Given the description of an element on the screen output the (x, y) to click on. 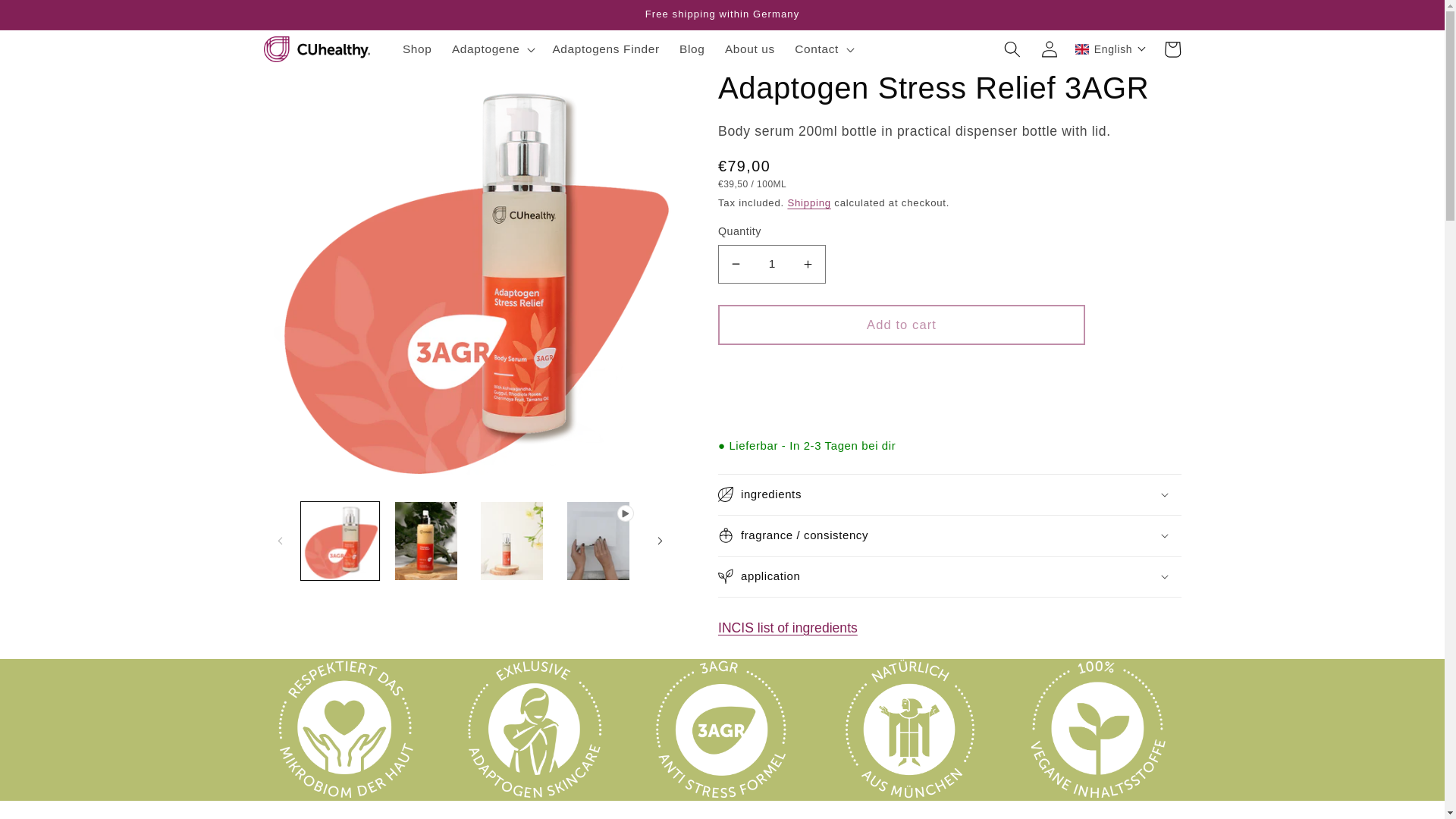
Adaptogens Finder (605, 48)
About us (749, 48)
Log in (1048, 49)
1 (771, 264)
Skip to product information (313, 87)
Shop (417, 48)
Blog (691, 48)
Skip to content (50, 20)
Cart (1172, 49)
